Given the description of an element on the screen output the (x, y) to click on. 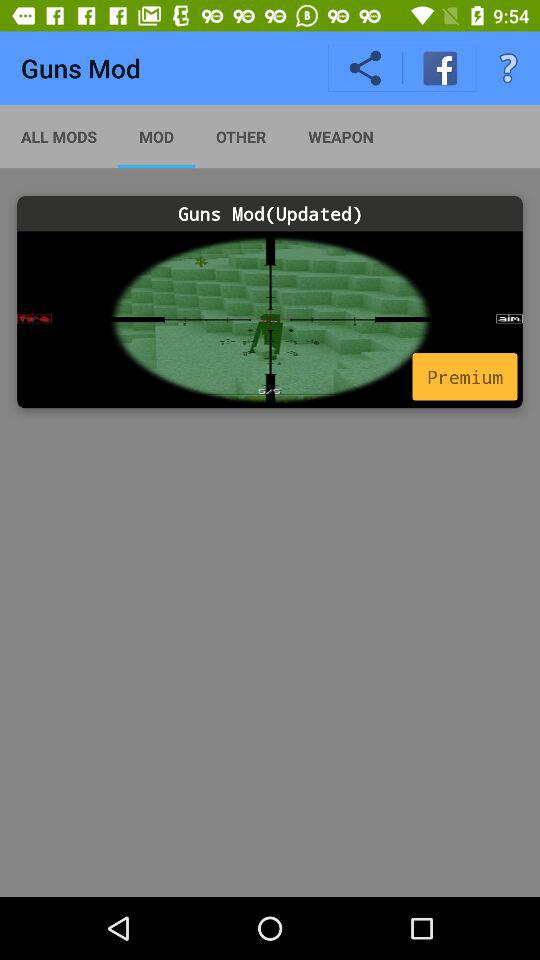
tap app next to the mod app (59, 136)
